Given the description of an element on the screen output the (x, y) to click on. 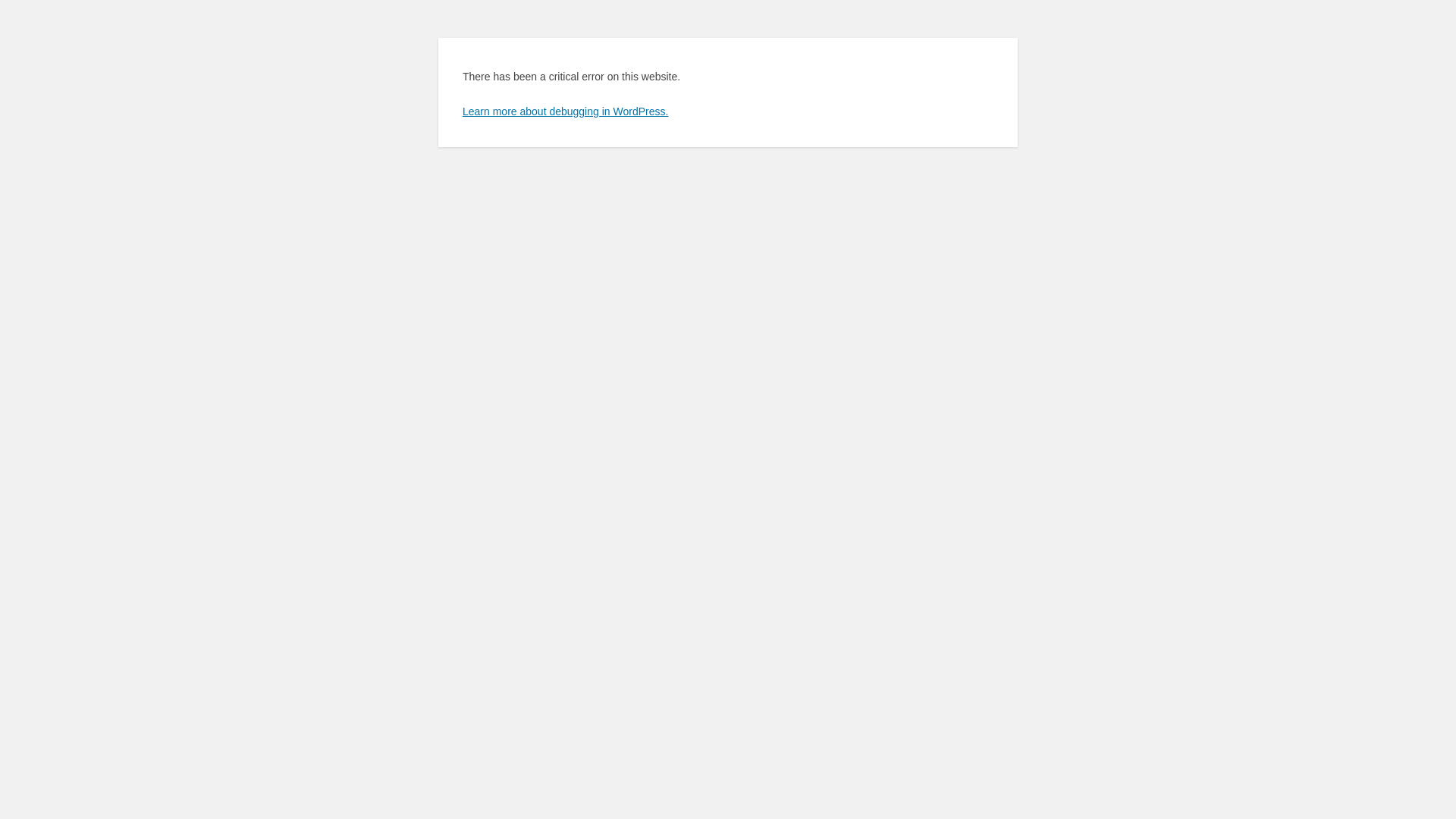
Learn more about debugging in WordPress. Element type: text (565, 111)
